Given the description of an element on the screen output the (x, y) to click on. 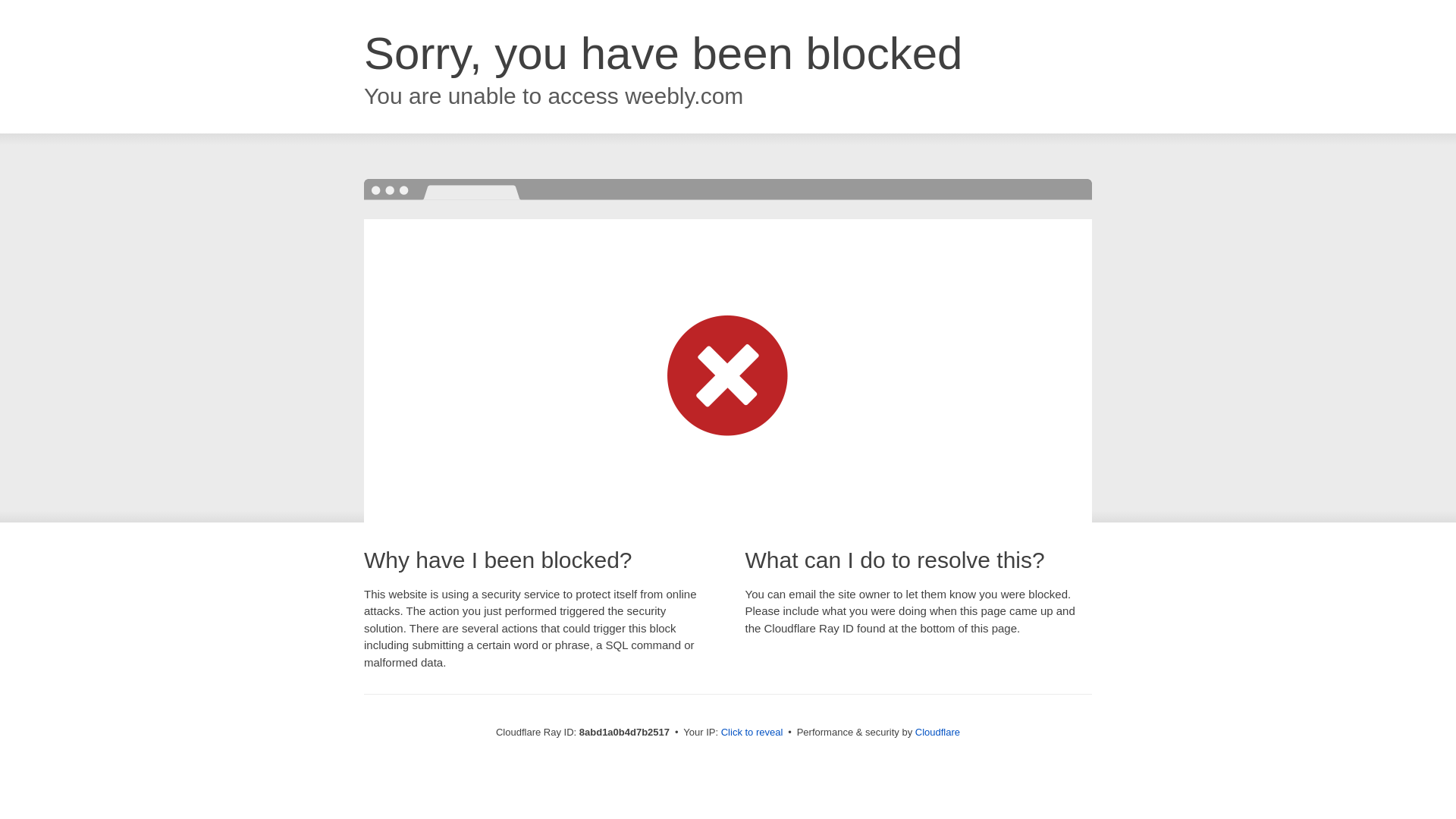
Cloudflare (937, 731)
Click to reveal (751, 732)
